Given the description of an element on the screen output the (x, y) to click on. 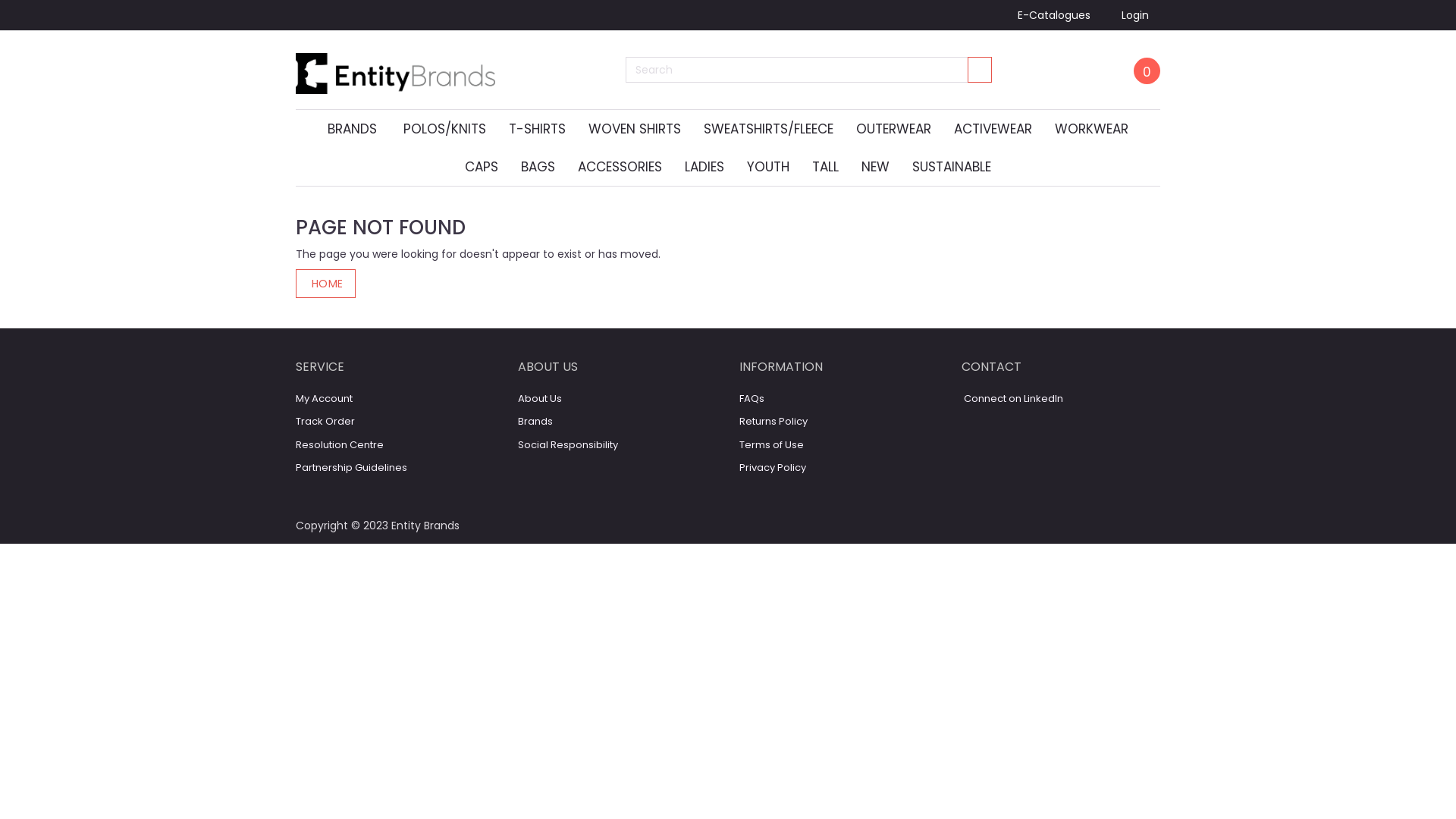
Entity Brands Element type: hover (395, 68)
BRANDS Element type: text (354, 128)
NEW Element type: text (875, 166)
Partnership Guidelines Element type: text (351, 467)
OUTERWEAR Element type: text (893, 128)
ACTIVEWEAR Element type: text (992, 128)
T-SHIRTS Element type: text (537, 128)
Login Element type: text (1132, 15)
BAGS Element type: text (537, 166)
 Connect on LinkedIn Element type: text (1012, 398)
Track Order Element type: text (324, 421)
Resolution Centre Element type: text (339, 444)
SWEATSHIRTS/FLEECE Element type: text (768, 128)
CAPS Element type: text (481, 166)
HOME Element type: text (325, 283)
0 Element type: text (1146, 70)
Search Element type: text (979, 69)
My Account Element type: text (323, 398)
Social Responsibility Element type: text (567, 444)
Privacy Policy Element type: text (772, 467)
Returns Policy Element type: text (773, 421)
SUSTAINABLE Element type: text (951, 166)
ACCESSORIES Element type: text (619, 166)
Brands Element type: text (534, 421)
YOUTH Element type: text (767, 166)
E-Catalogues Element type: text (1053, 15)
LADIES Element type: text (704, 166)
POLOS/KNITS Element type: text (444, 128)
About Us Element type: text (539, 398)
Terms of Use Element type: text (771, 444)
WOVEN SHIRTS Element type: text (634, 128)
FAQs Element type: text (751, 398)
TALL Element type: text (825, 166)
WORKWEAR Element type: text (1091, 128)
